Given the description of an element on the screen output the (x, y) to click on. 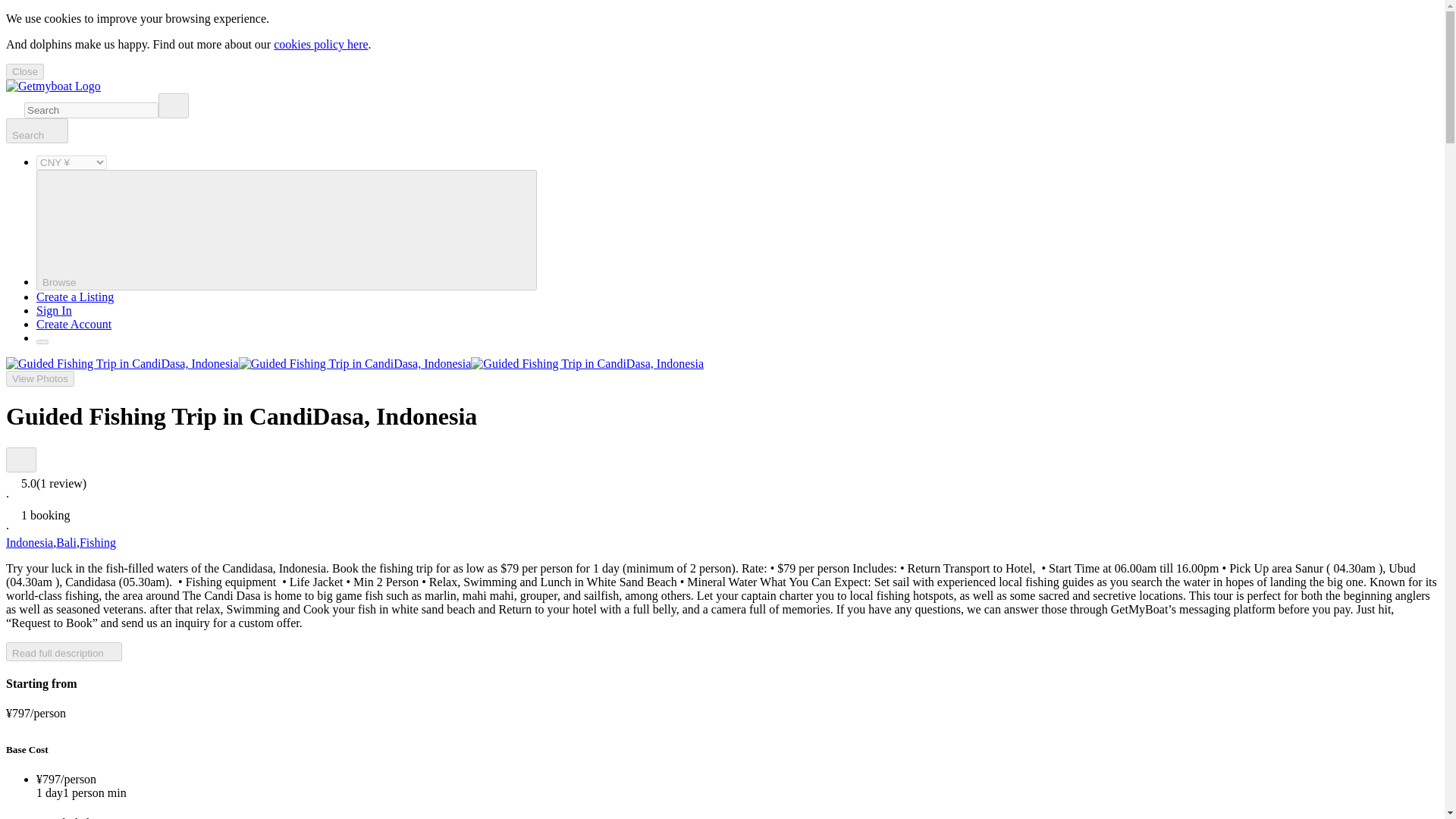
Clear (173, 105)
Close (24, 71)
Create a Listing (74, 296)
cookies policy here (320, 43)
Browse (286, 229)
Sign In (53, 309)
Read full description (63, 651)
Create Account (74, 323)
Bali (66, 542)
Search (36, 130)
Indonesia (28, 542)
Fishing (98, 542)
View Photos (39, 378)
